Given the description of an element on the screen output the (x, y) to click on. 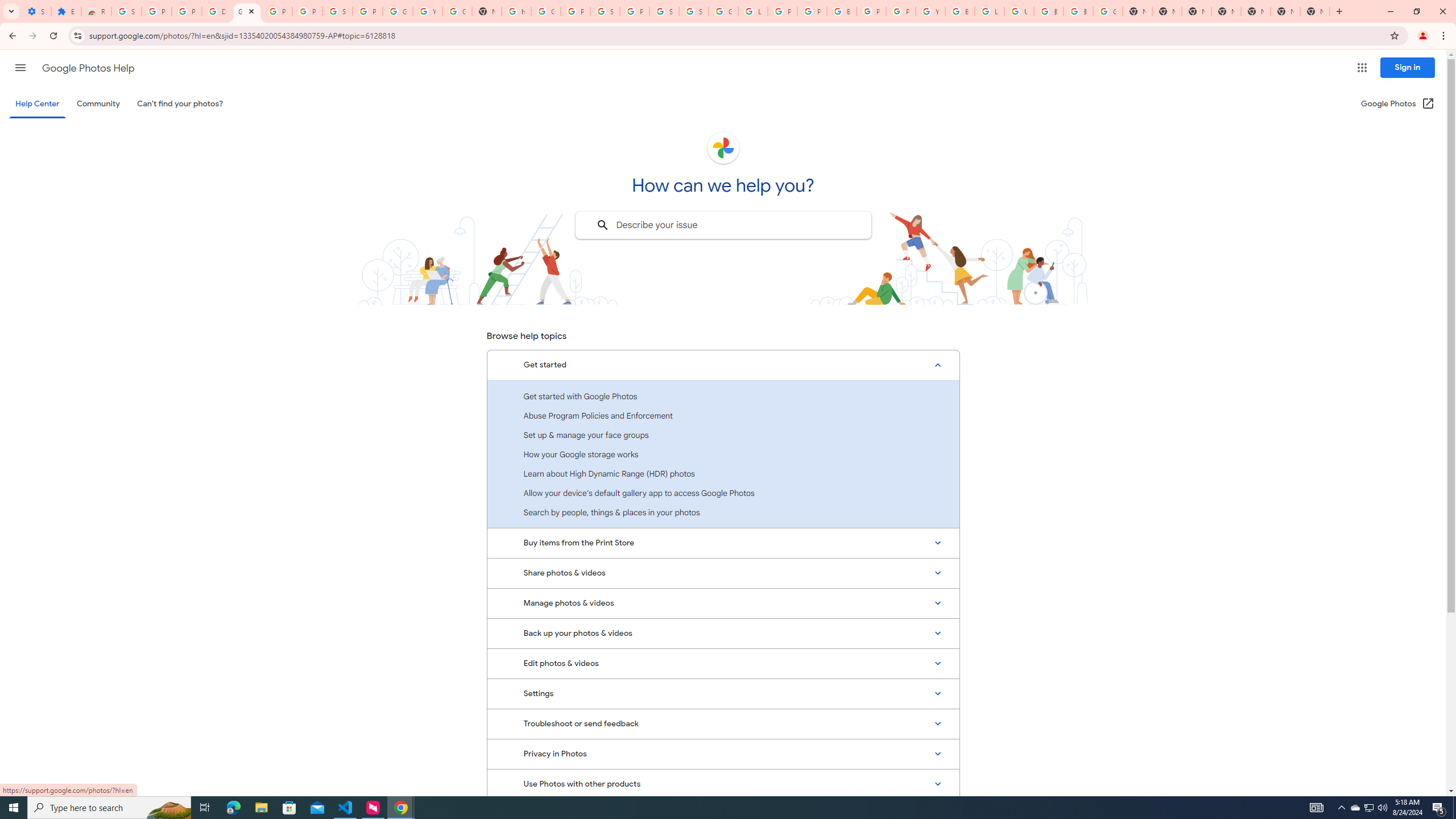
Google Images (1107, 11)
Get started with Google Photos (722, 396)
Settings - On startup (36, 11)
Use Photos with other products (722, 784)
Google Photos Help (87, 68)
Back up your photos & videos (722, 633)
Delete photos & videos - Computer - Google Photos Help (216, 11)
